Given the description of an element on the screen output the (x, y) to click on. 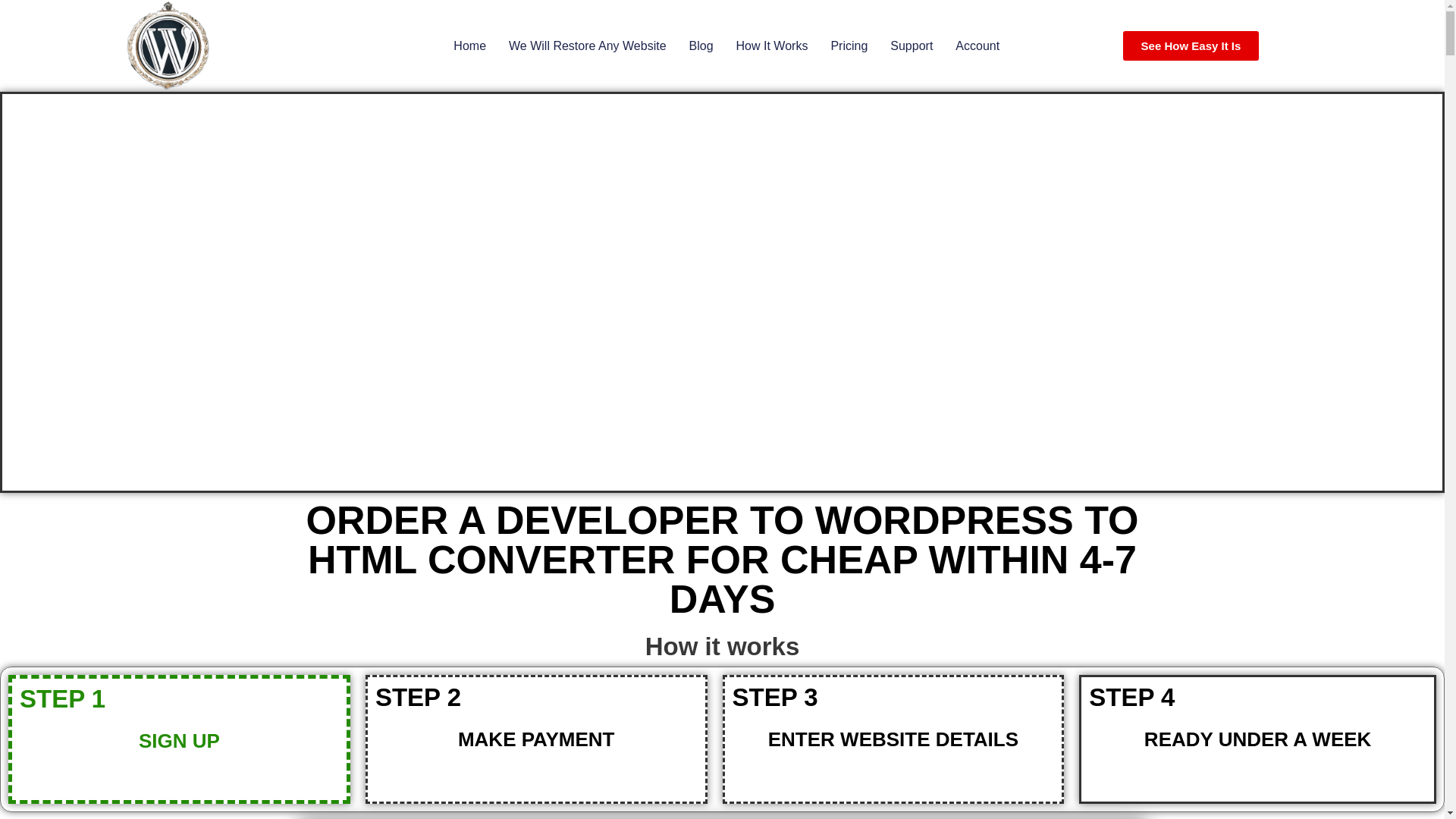
Blog (700, 46)
How It Works (772, 46)
Support (911, 46)
Home (469, 46)
Pricing (848, 46)
Account (976, 46)
We Will Restore Any Website (586, 46)
